Given the description of an element on the screen output the (x, y) to click on. 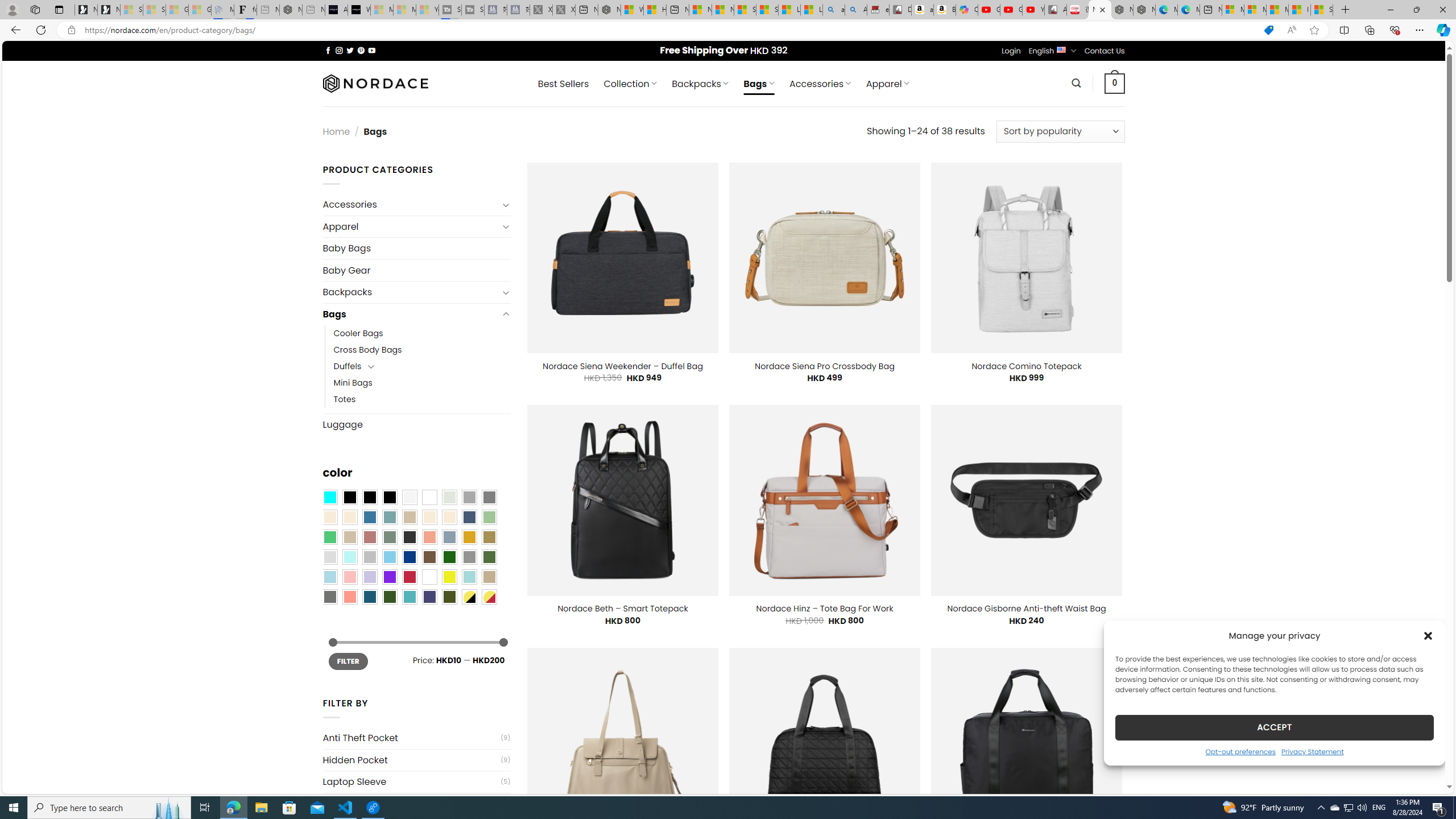
Huge shark washes ashore at New York City beach | Watch (655, 9)
Nordace - My Account (609, 9)
Coral (429, 536)
Yellow (449, 577)
Login (1010, 50)
Gray (468, 557)
Dull Nickle (329, 596)
Follow on YouTube (371, 49)
Aqua (468, 577)
